Given the description of an element on the screen output the (x, y) to click on. 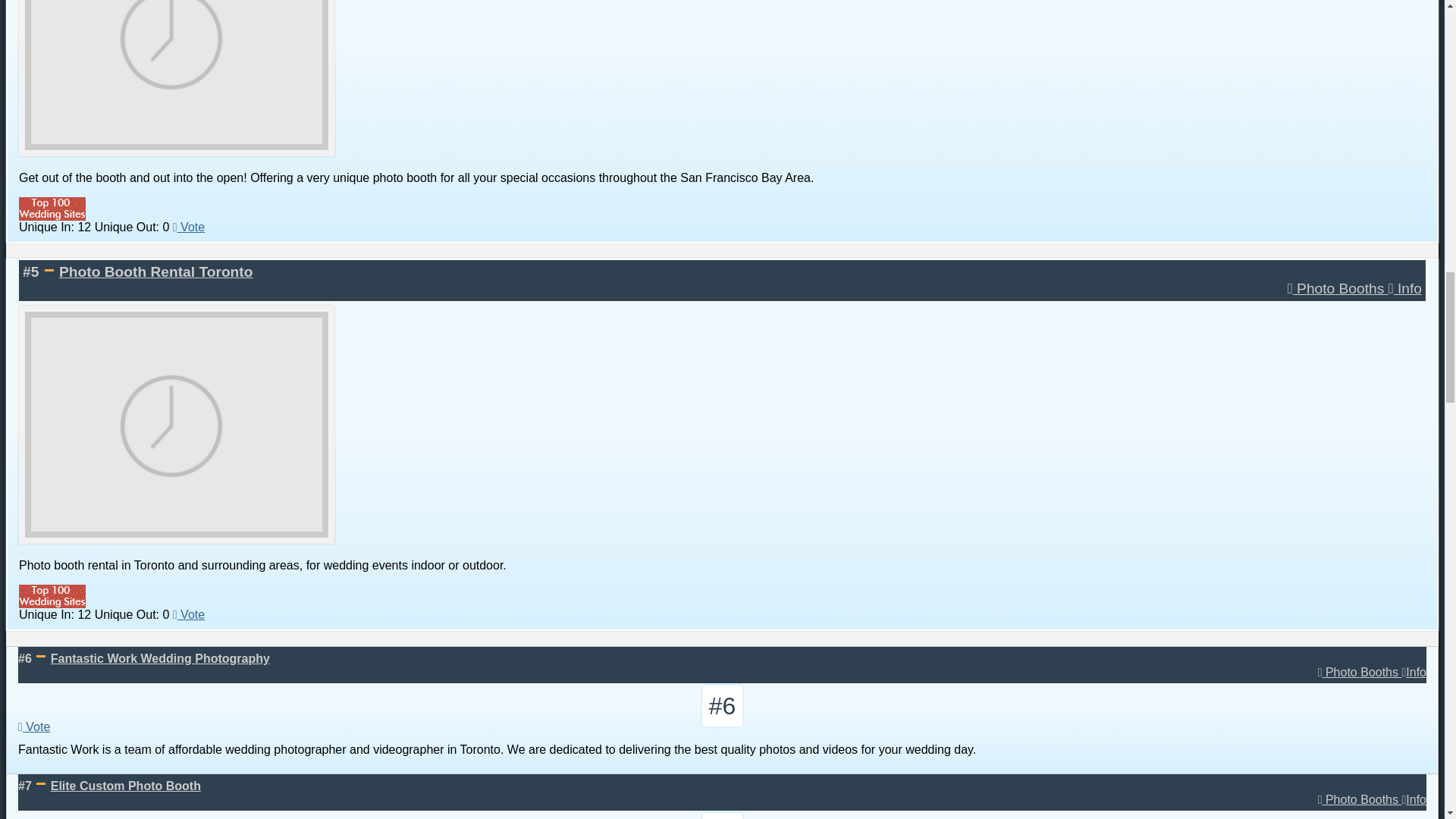
Vote (189, 614)
Vote (189, 226)
Info (1405, 288)
Fantastic Work Wedding Photography (159, 658)
Photo Booths (1338, 288)
Photo Booths (1359, 671)
Photo Booth Rental Toronto (155, 271)
Fantastic Work Wedding Photography (159, 658)
Elite Custom Photo Booth (125, 785)
Photo Booth Rental Toronto (155, 271)
Info (1413, 671)
